Given the description of an element on the screen output the (x, y) to click on. 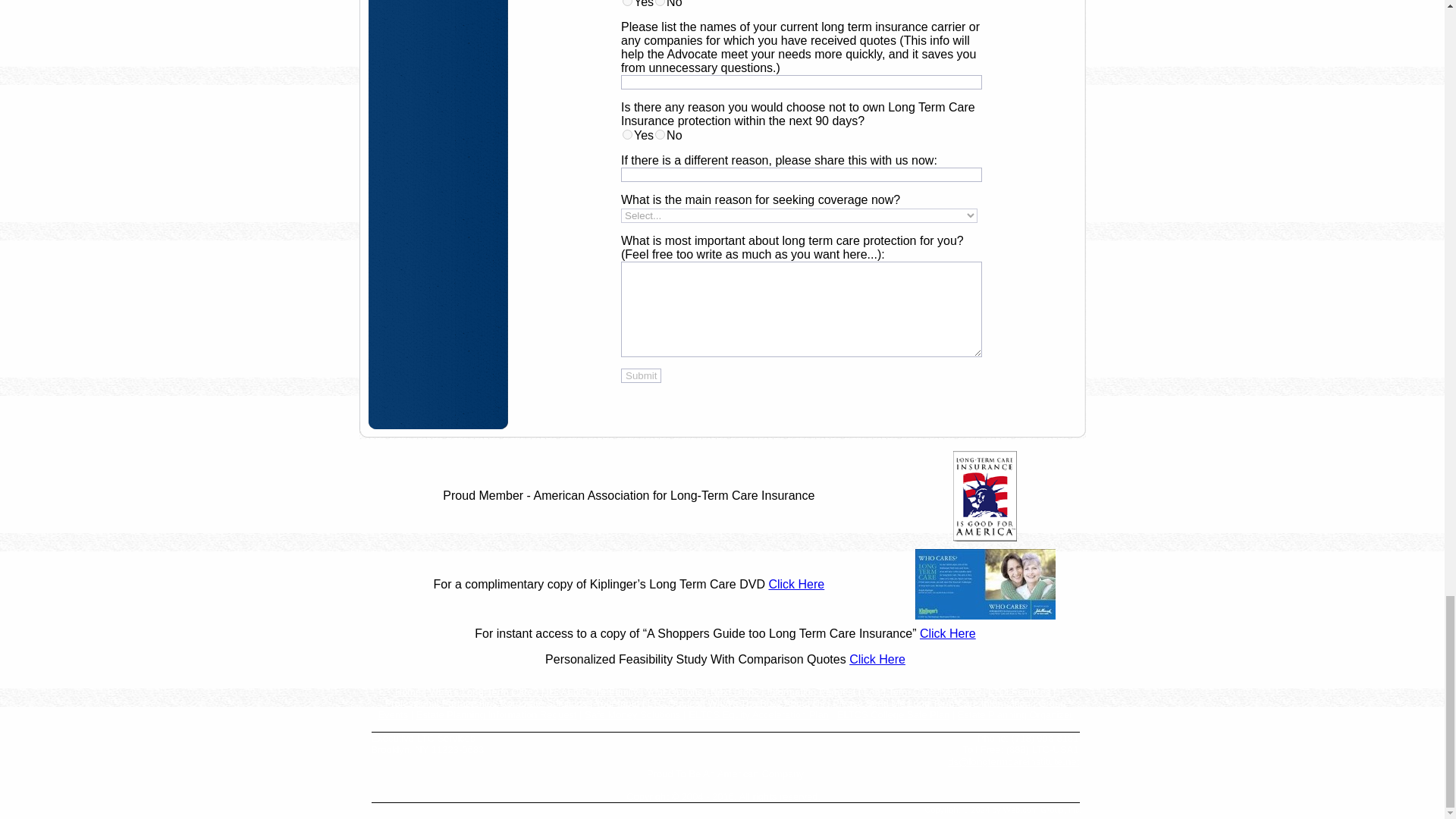
Your Input (616, 703)
Click Here (876, 658)
Please Send Me Long Term Care Information (931, 703)
Professional Partnerships Corporate Solutions (485, 703)
Safe Money Solutions (633, 714)
LTCI Features (1018, 691)
Information Request (811, 691)
It's About The Family (593, 691)
Next Steps (735, 691)
Group Events (721, 708)
